Given the description of an element on the screen output the (x, y) to click on. 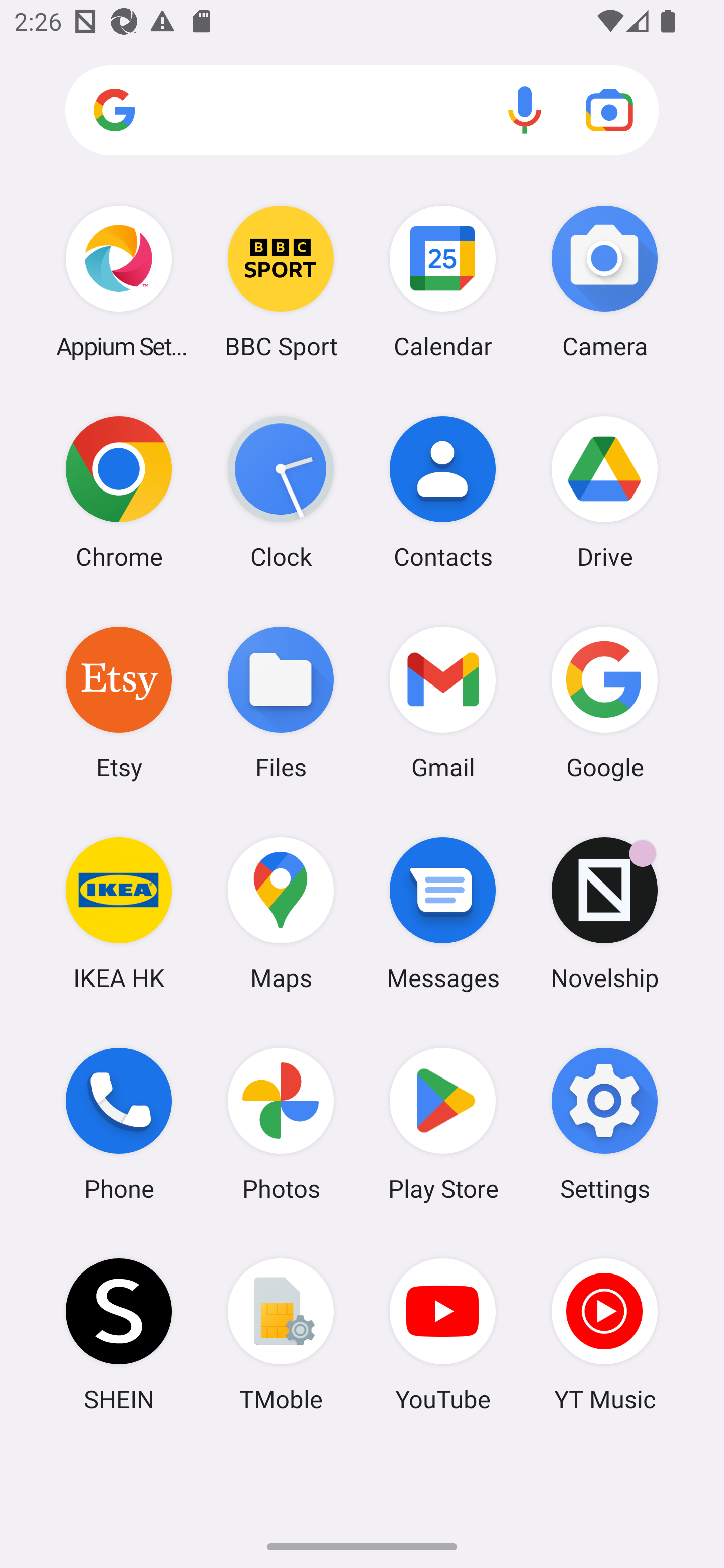
Search apps, web and more (361, 110)
Voice search (524, 109)
Google Lens (608, 109)
Appium Settings (118, 281)
BBC Sport (280, 281)
Calendar (443, 281)
Camera (604, 281)
Chrome (118, 492)
Clock (280, 492)
Contacts (443, 492)
Drive (604, 492)
Etsy (118, 702)
Files (280, 702)
Gmail (443, 702)
Google (604, 702)
IKEA HK (118, 913)
Maps (280, 913)
Messages (443, 913)
Novelship Novelship has 9 notifications (604, 913)
Phone (118, 1124)
Photos (280, 1124)
Play Store (443, 1124)
Settings (604, 1124)
SHEIN (118, 1334)
TMoble (280, 1334)
YouTube (443, 1334)
YT Music (604, 1334)
